Given the description of an element on the screen output the (x, y) to click on. 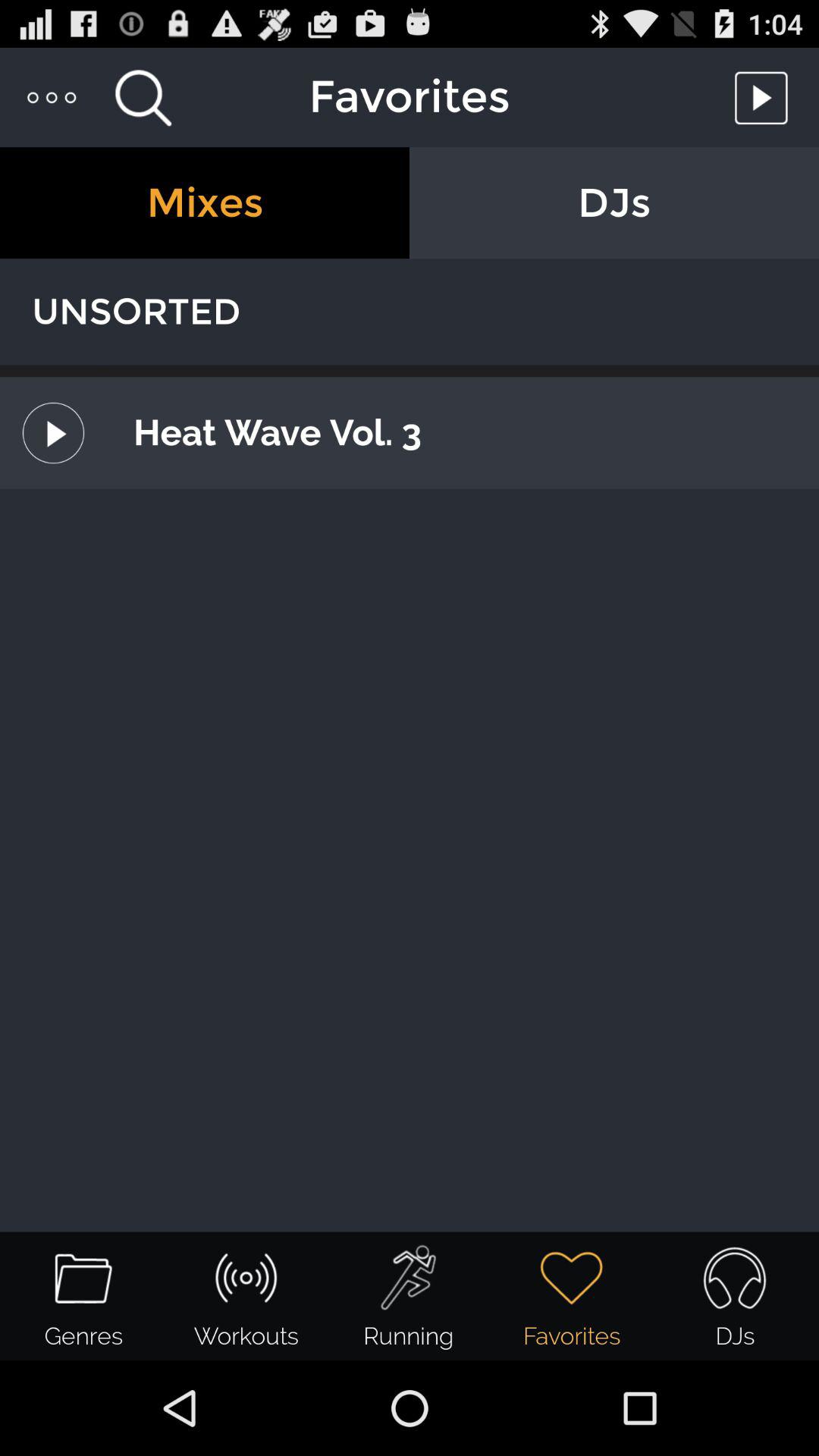
select the item below the unsorted (409, 371)
